Given the description of an element on the screen output the (x, y) to click on. 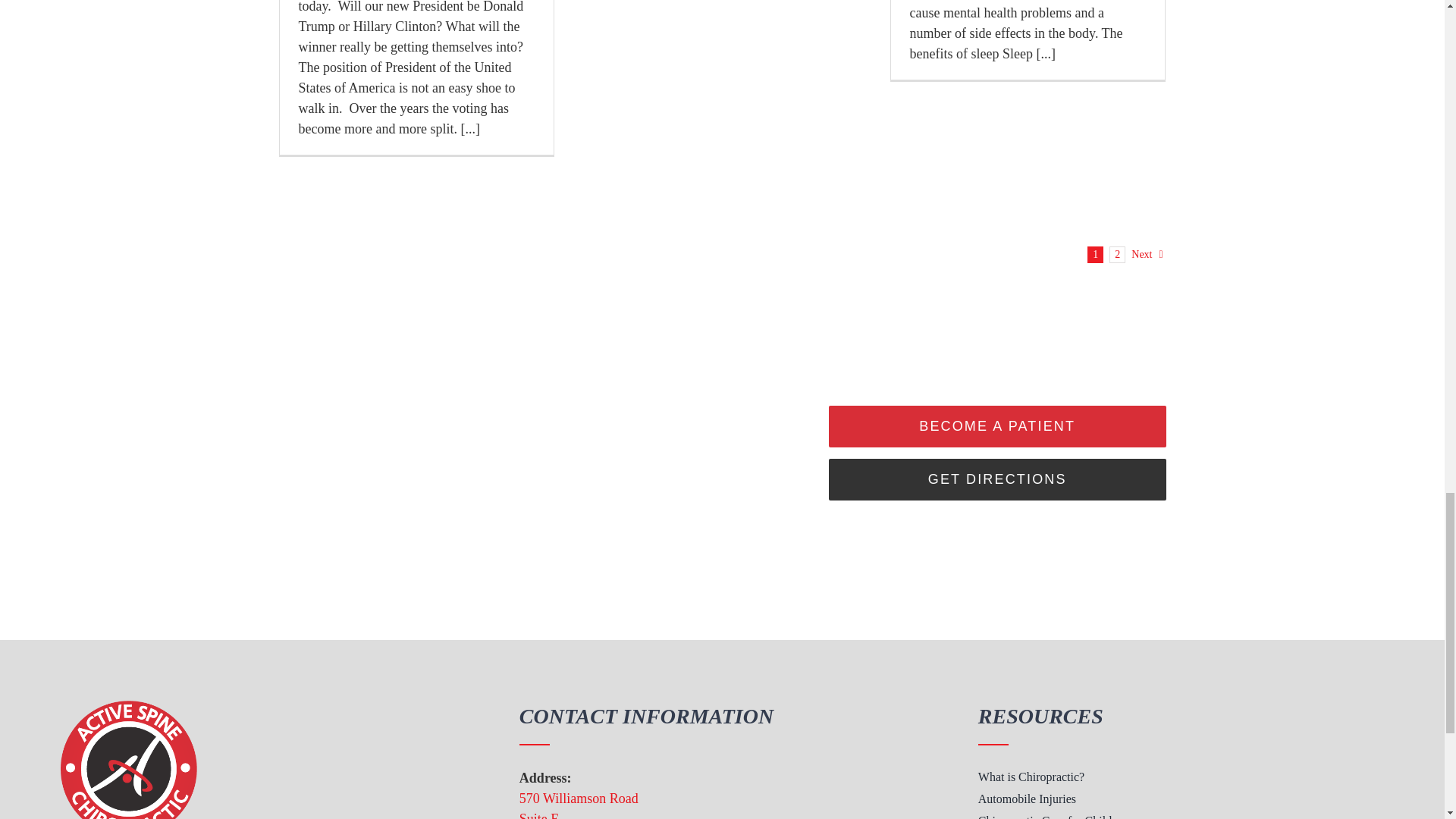
Active Spine Chiropractic in Mooresville, North Carolina (128, 760)
